Given the description of an element on the screen output the (x, y) to click on. 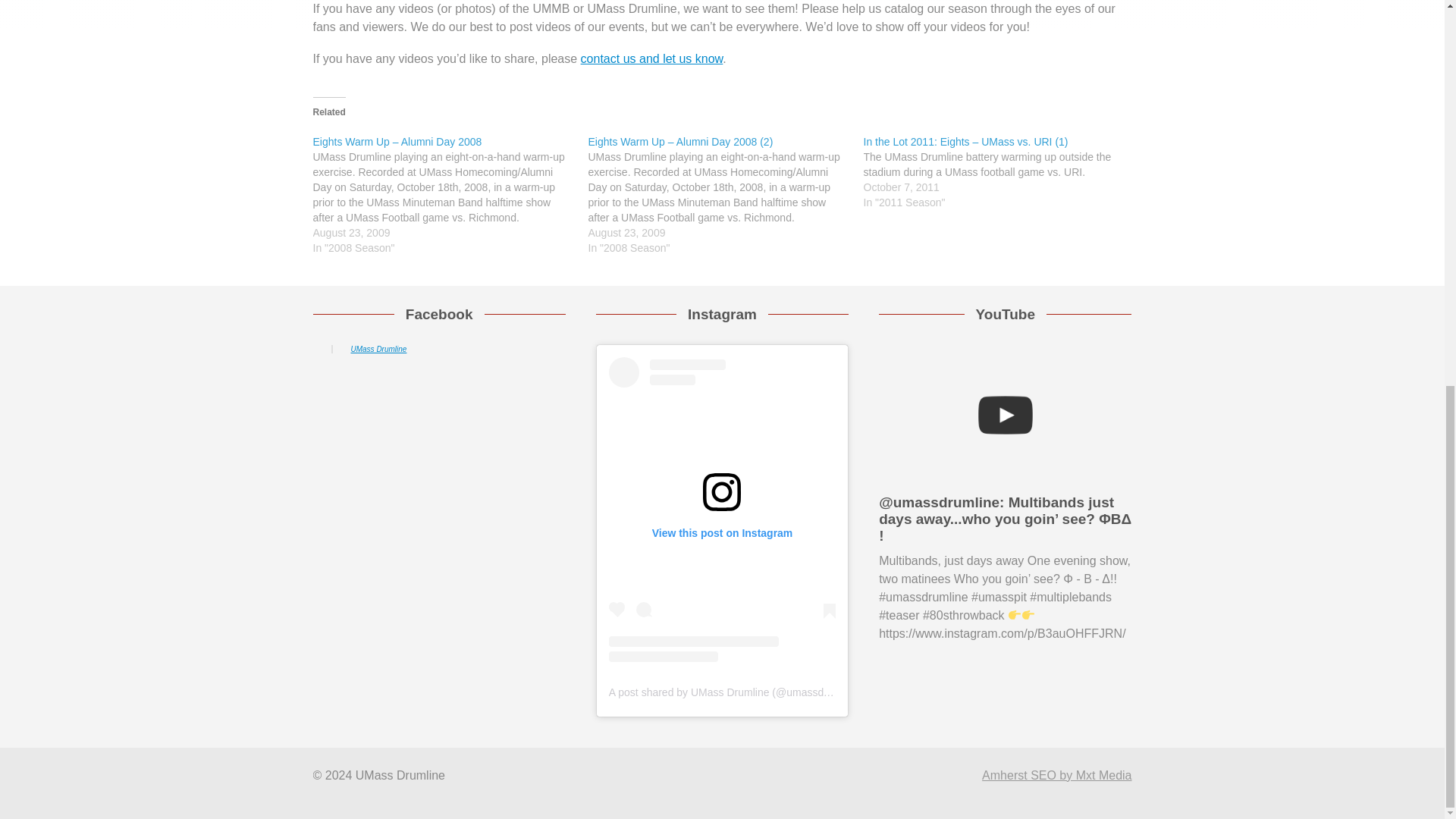
Instagram (722, 314)
Facebook (439, 314)
contact us and let us know (651, 57)
UMass Drumline (378, 347)
Amherst SEO by Mxt Media (1056, 775)
YouTube (1004, 314)
